Given the description of an element on the screen output the (x, y) to click on. 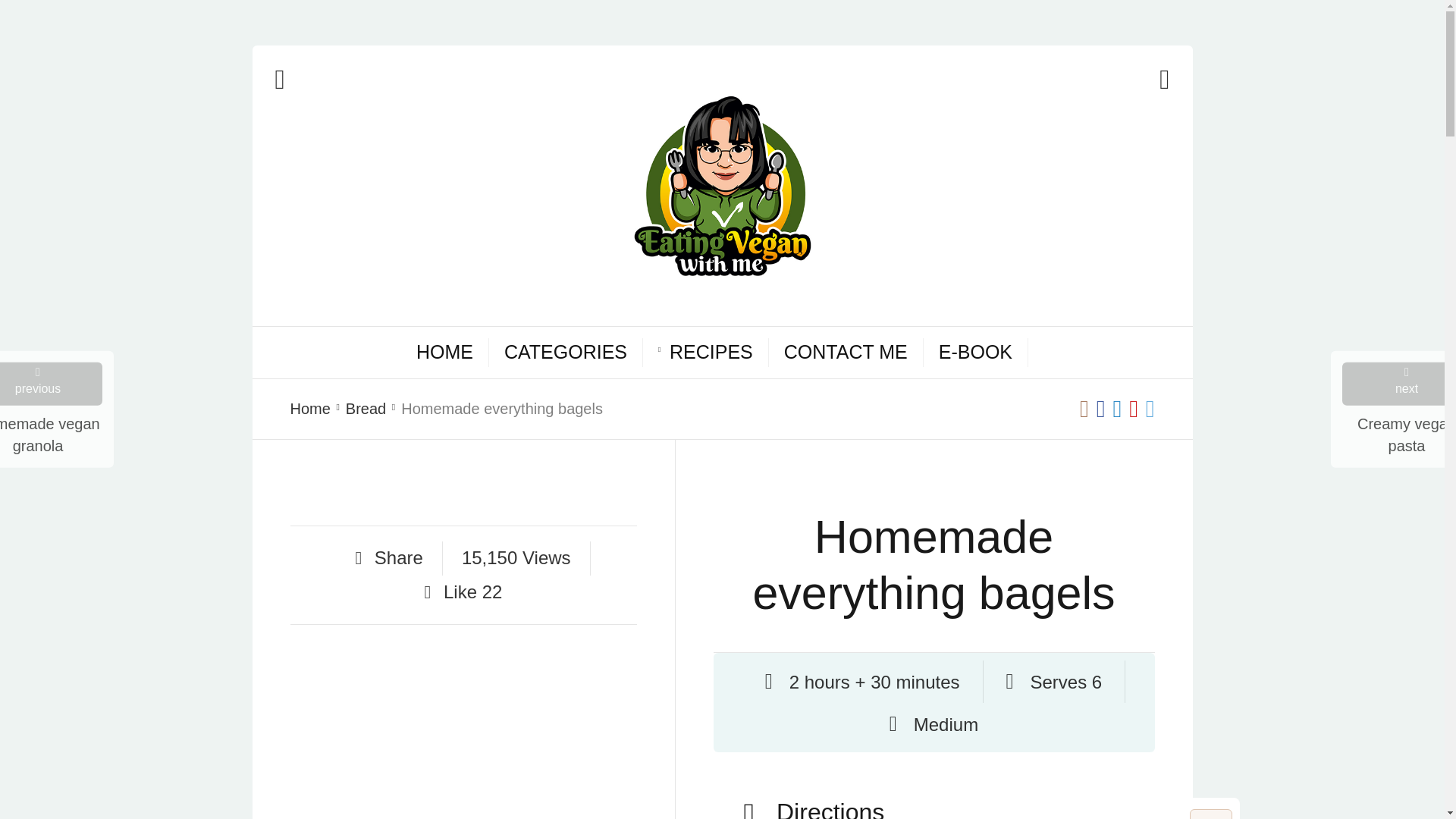
RECIPES (710, 352)
CATEGORIES (565, 352)
CONTACT ME (845, 352)
E-BOOK (975, 352)
HOME (444, 352)
View all posts in Bread (365, 409)
